Given the description of an element on the screen output the (x, y) to click on. 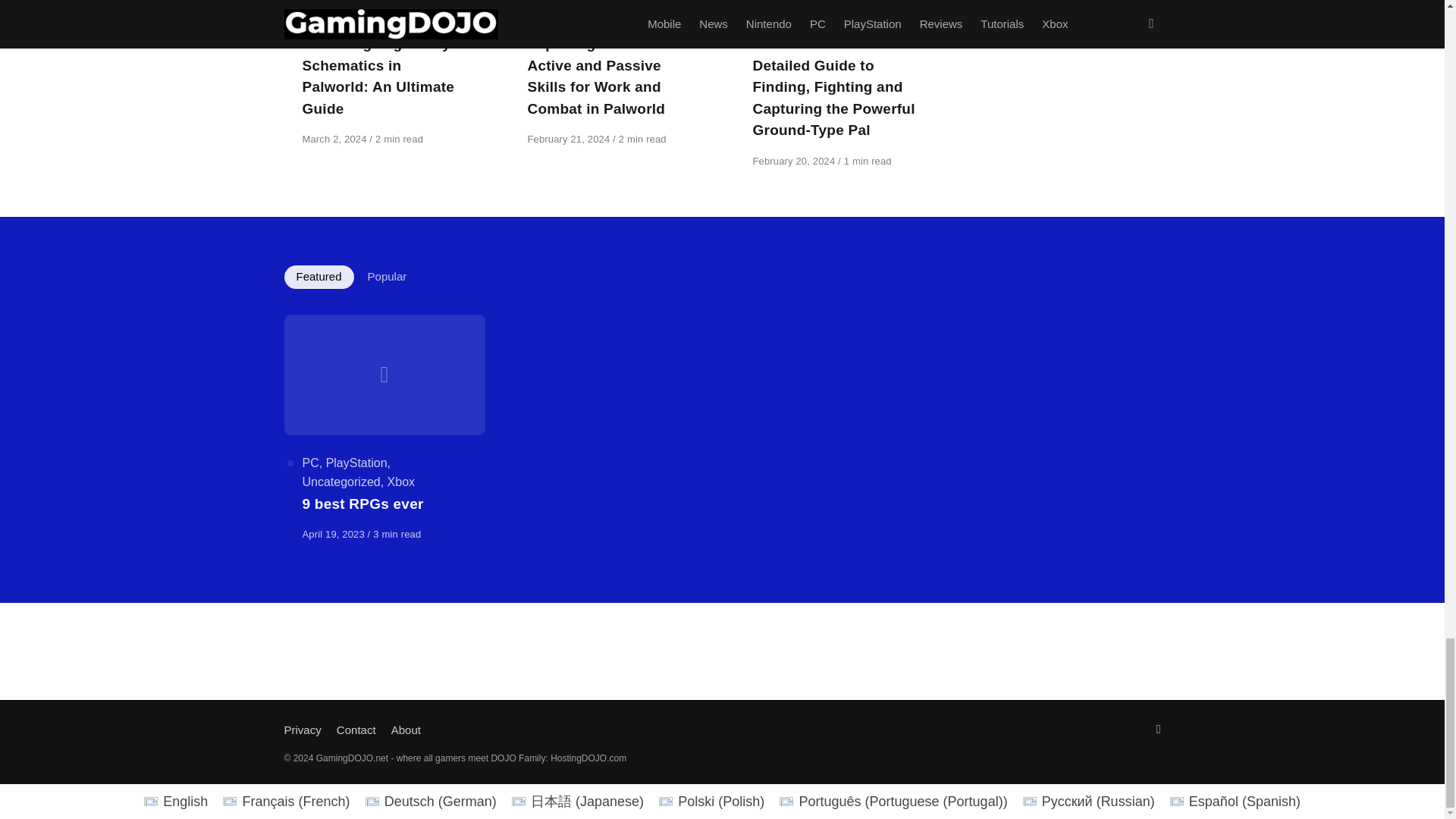
February 20, 2024 (795, 161)
March 2, 2024 (335, 138)
April 19, 2023 (333, 533)
August 19, 2024 (1006, 2)
February 21, 2024 (569, 138)
